Given the description of an element on the screen output the (x, y) to click on. 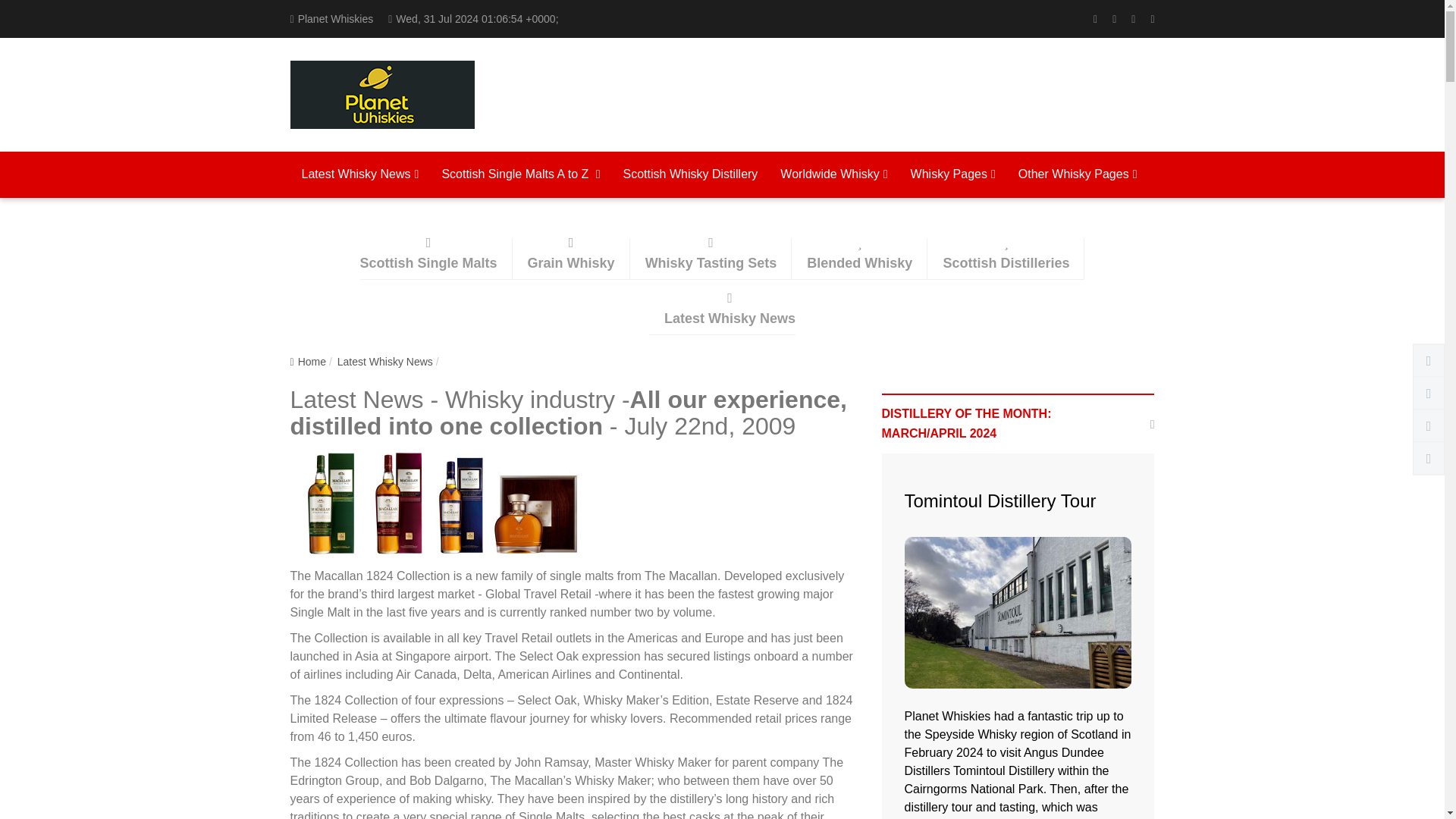
Read the latest whisky news on Planet Whiskies (359, 175)
Scottish Single Malts A to Z (520, 175)
Go to Planet Whiskies home page (381, 94)
Latest Whisky News (359, 175)
